Given the description of an element on the screen output the (x, y) to click on. 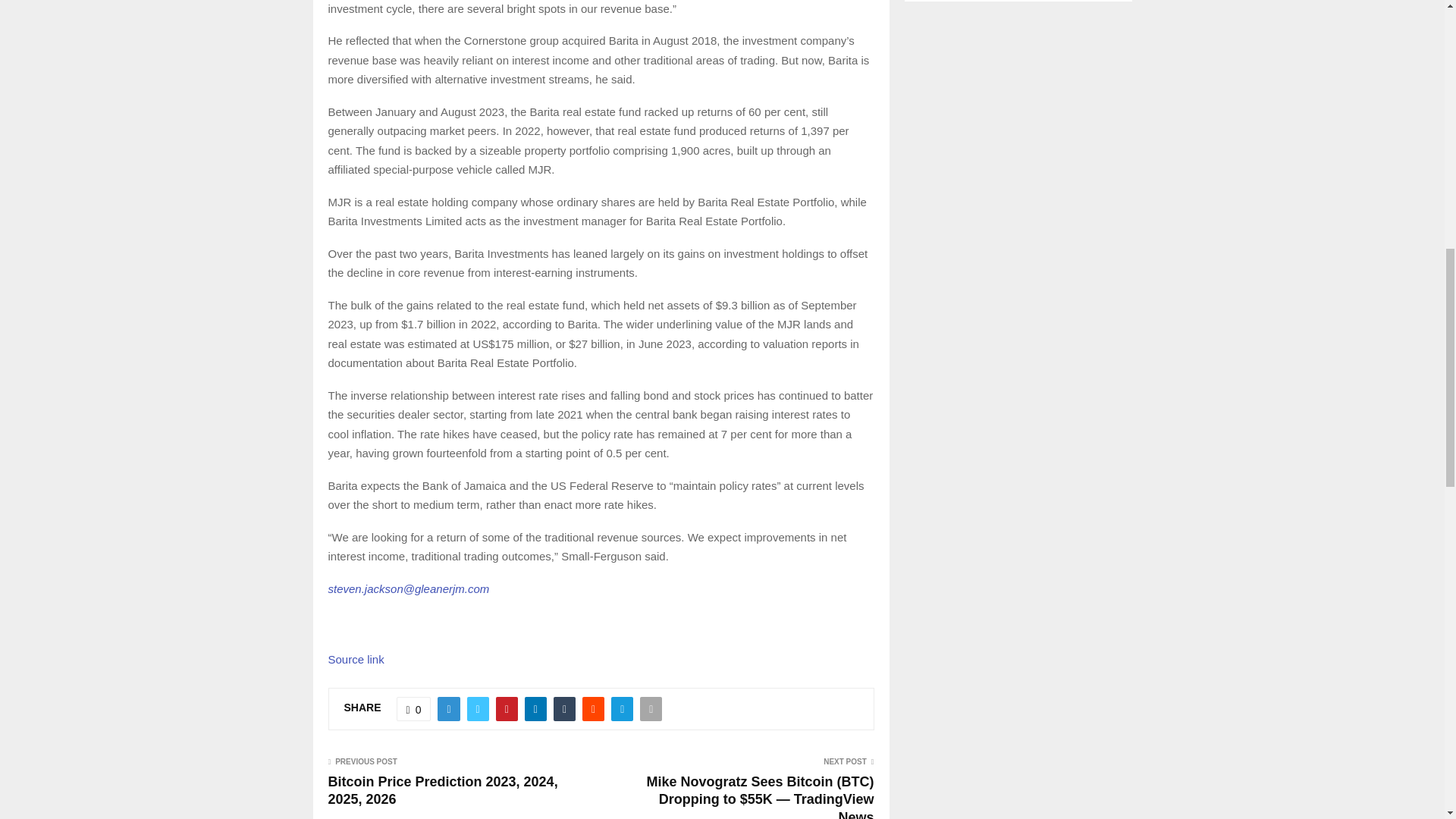
Source link (355, 658)
Like (413, 708)
0 (413, 708)
